Given the description of an element on the screen output the (x, y) to click on. 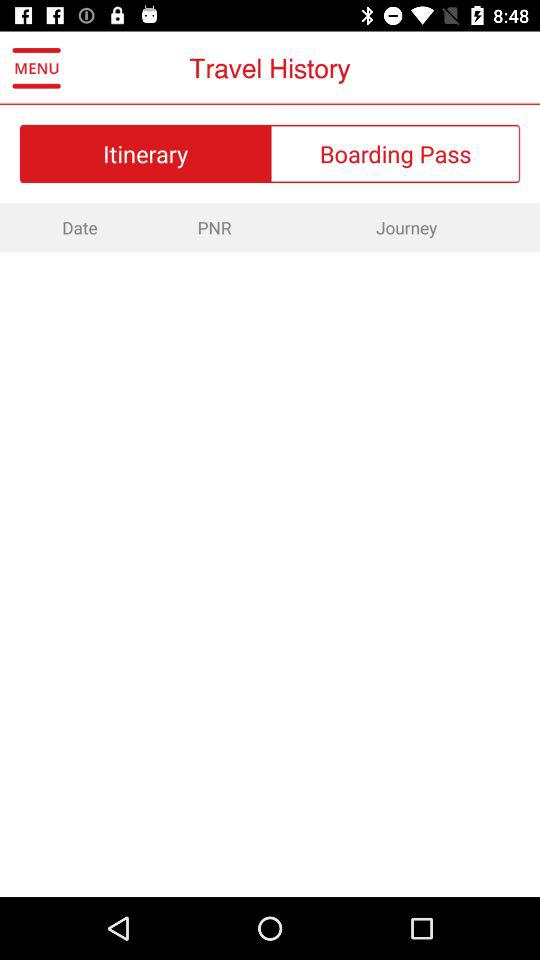
open icon next to the travel history (36, 68)
